Given the description of an element on the screen output the (x, y) to click on. 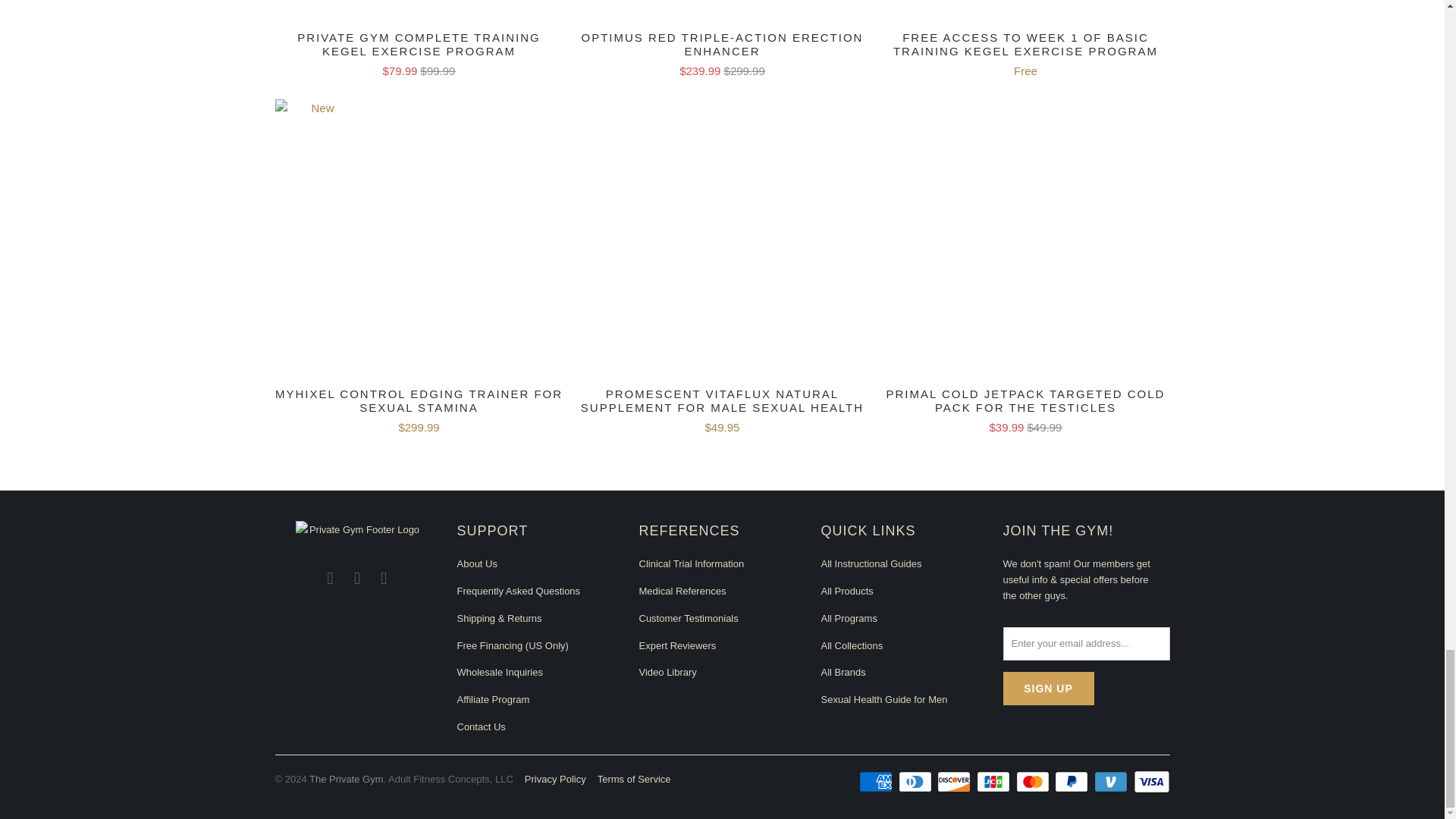
JCB (994, 781)
American Express (877, 781)
Mastercard (1034, 781)
The Private Gym on YouTube (357, 578)
Diners Club (916, 781)
PayPal (1072, 781)
Venmo (1112, 781)
Sign Up (1048, 688)
Email The Private Gym (384, 578)
Visa (1150, 781)
